Given the description of an element on the screen output the (x, y) to click on. 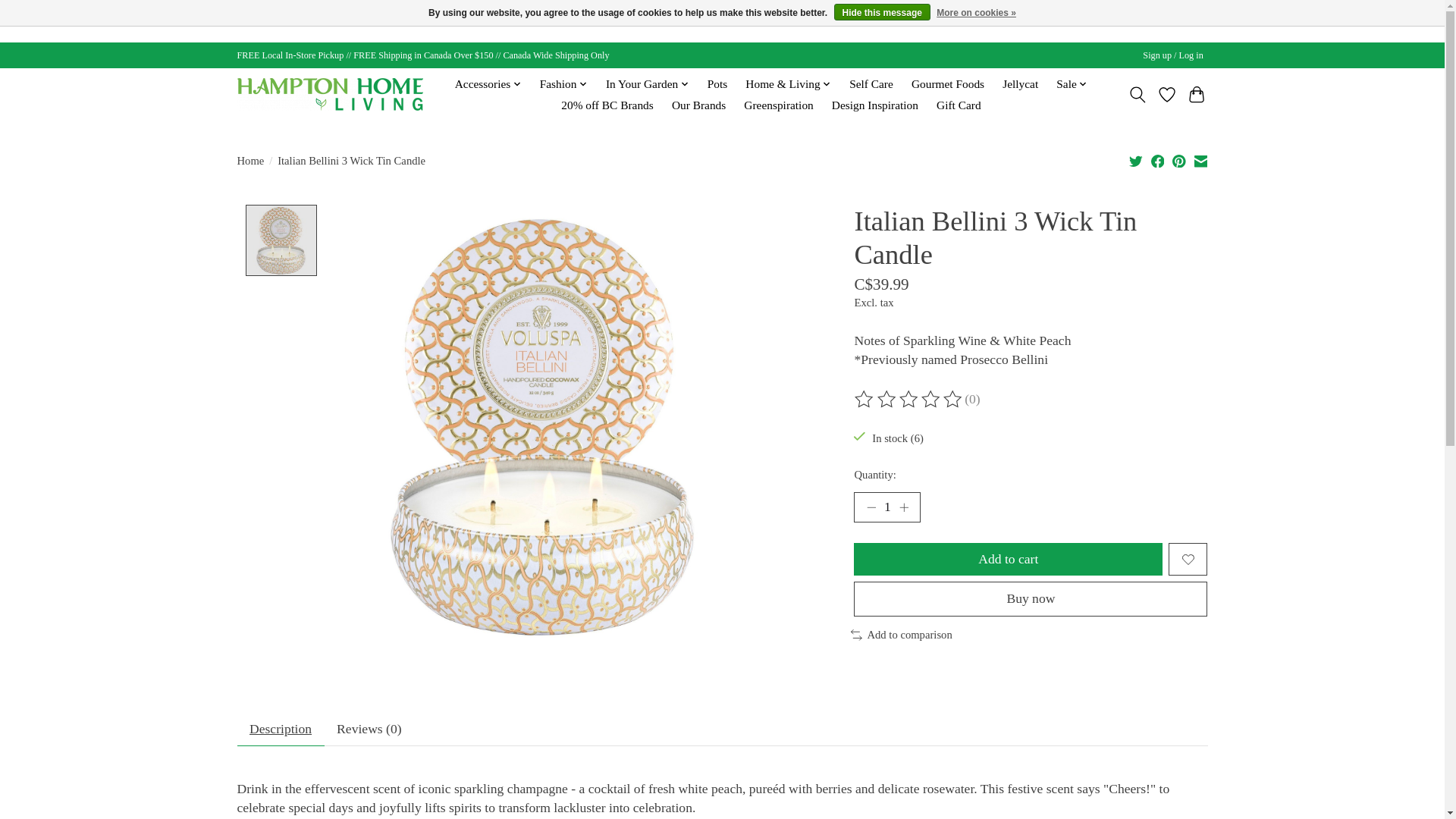
1 (886, 507)
My account (1173, 55)
Fashion (563, 84)
Accessories (488, 84)
